Given the description of an element on the screen output the (x, y) to click on. 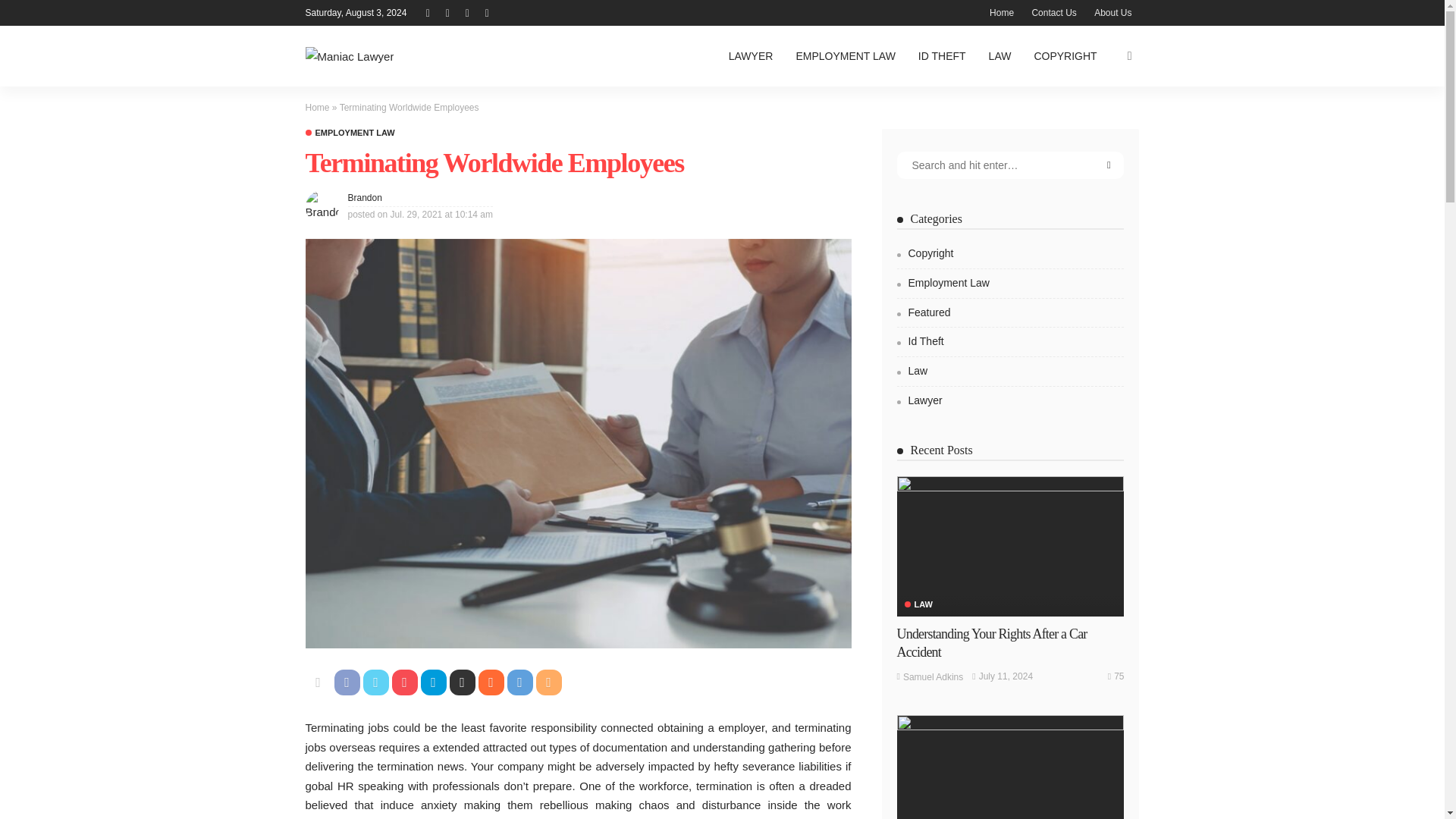
Home (1001, 12)
ID THEFT (941, 55)
Home (316, 107)
Employment Law (349, 132)
COPYRIGHT (1065, 55)
LAWYER (750, 55)
About Us (1112, 12)
Brandon (364, 197)
Contact Us (1053, 12)
EMPLOYMENT LAW (844, 55)
EMPLOYMENT LAW (349, 132)
Maniac Lawyer (348, 55)
